Given the description of an element on the screen output the (x, y) to click on. 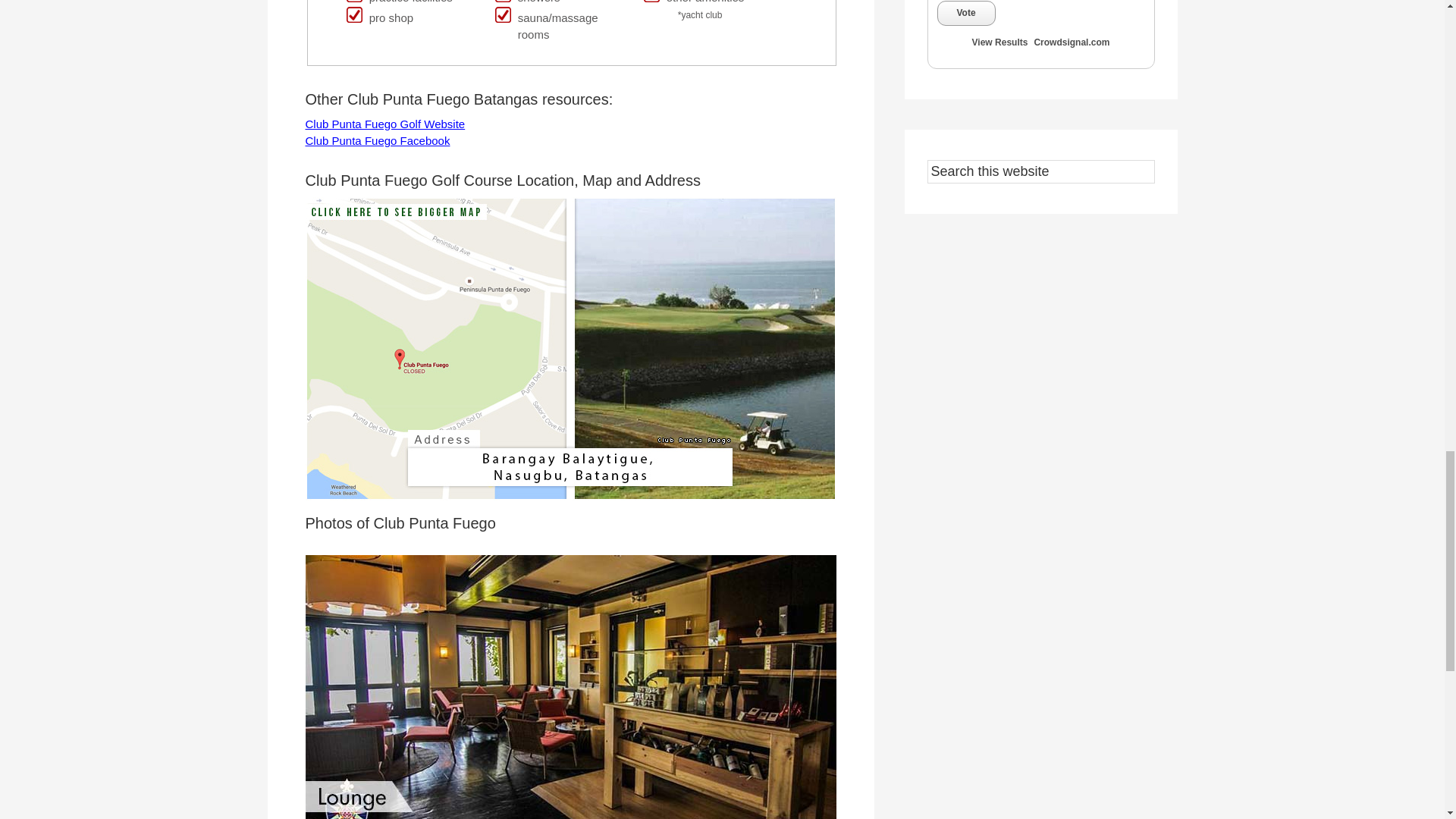
Chapel at Club Punta Fuego (152, 687)
